Given the description of an element on the screen output the (x, y) to click on. 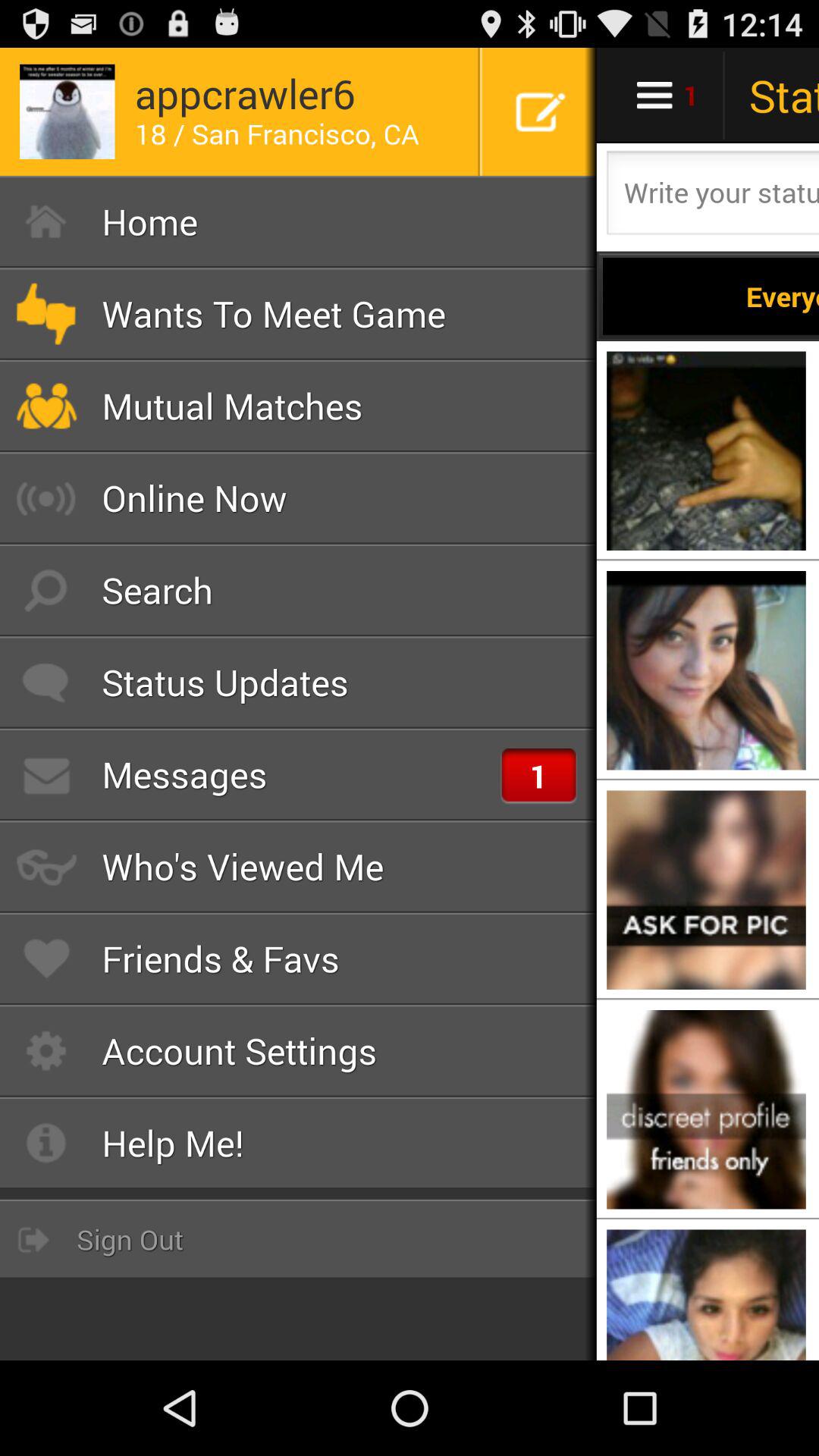
tap item above friends & favs icon (298, 866)
